Given the description of an element on the screen output the (x, y) to click on. 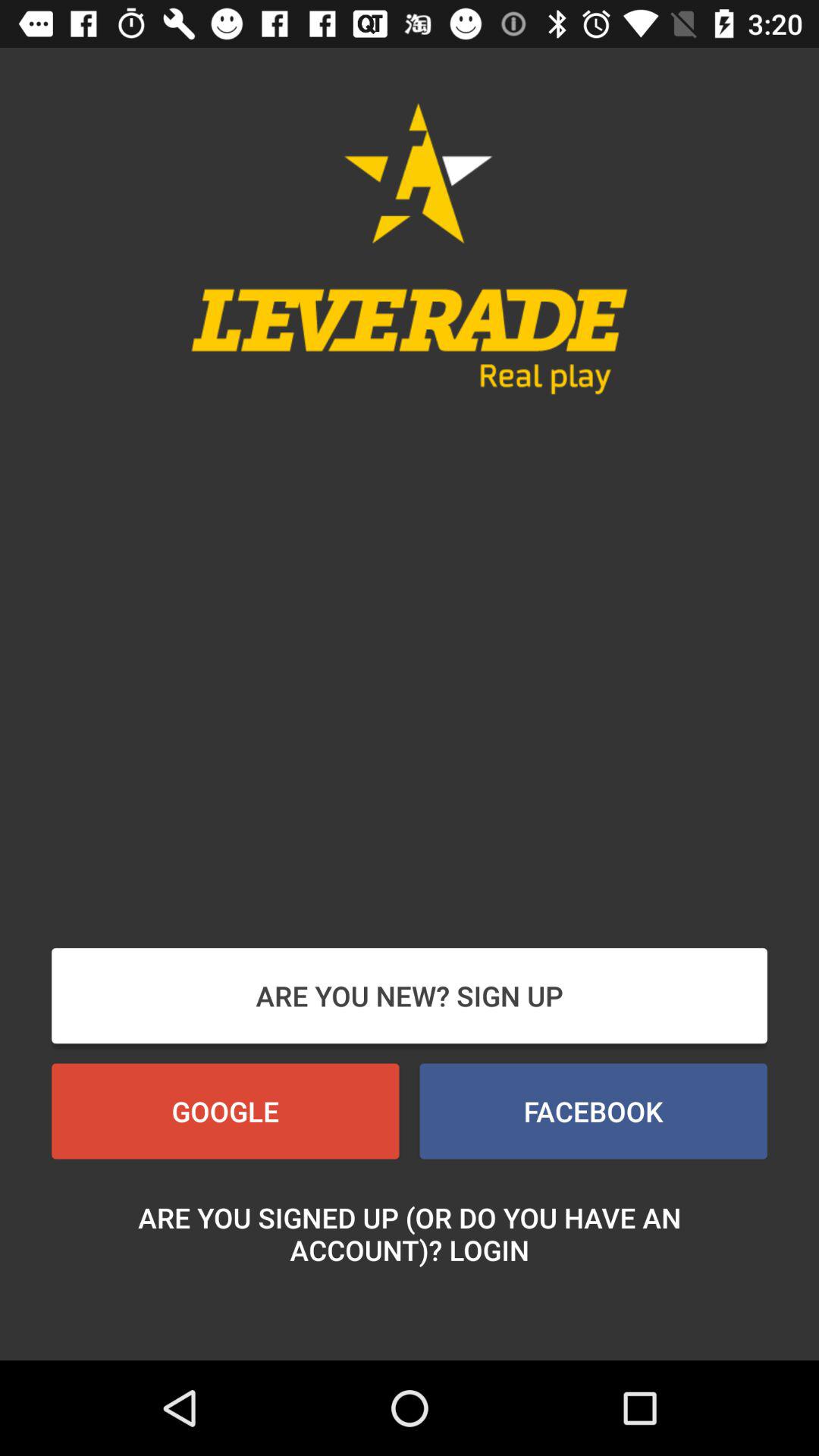
turn on the google button (225, 1111)
